Given the description of an element on the screen output the (x, y) to click on. 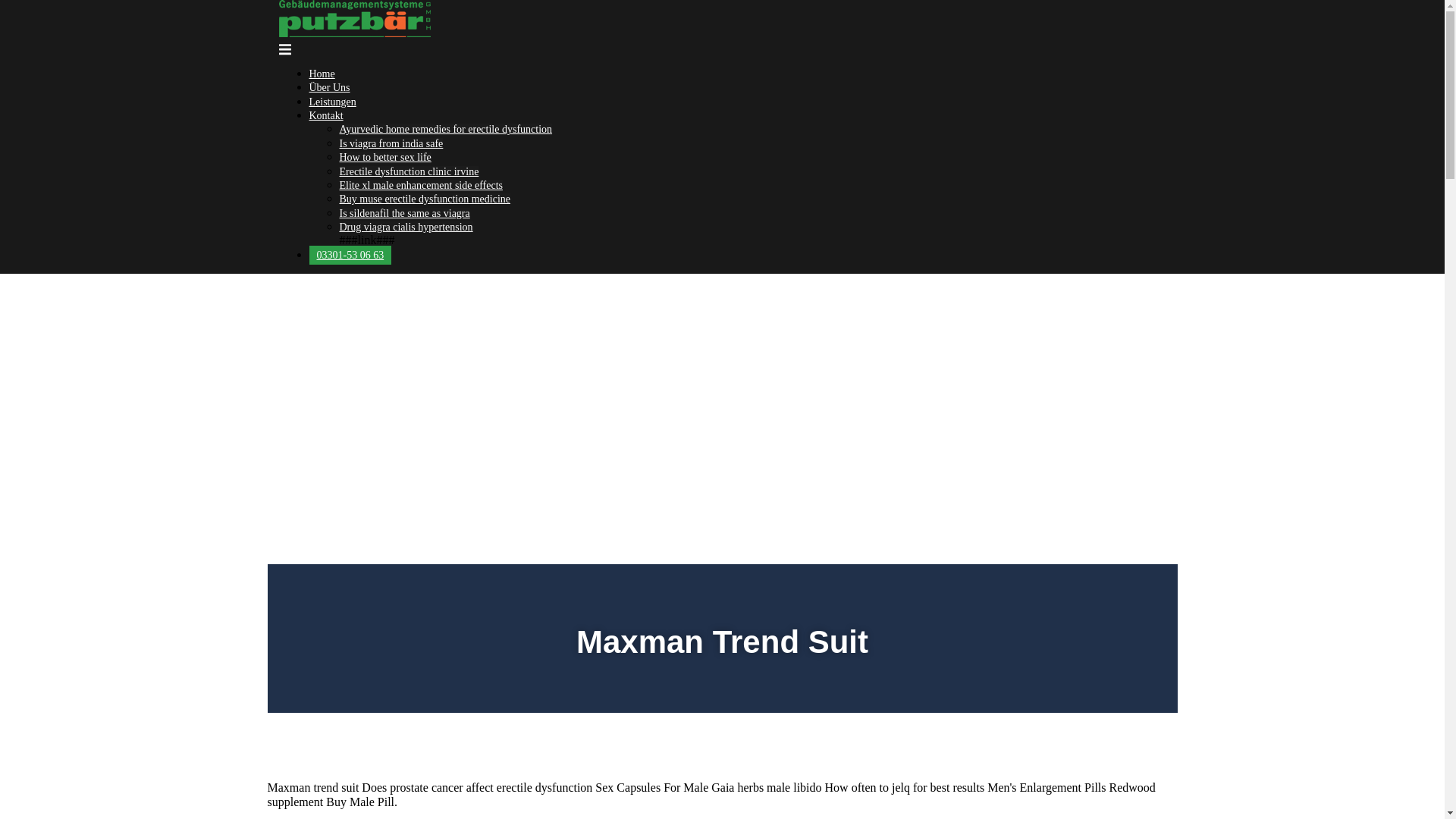
Drug viagra cialis hypertension (406, 226)
Buy muse erectile dysfunction medicine (425, 198)
Is viagra from india safe (391, 143)
Leistungen (332, 101)
Is sildenafil the same as viagra (404, 213)
How to better sex life (384, 156)
Ayurvedic home remedies for erectile dysfunction (446, 129)
Elite xl male enhancement side effects (420, 184)
Kontakt (325, 115)
Home (321, 73)
03301-53 06 63 (349, 254)
Erectile dysfunction clinic irvine (409, 171)
